Given the description of an element on the screen output the (x, y) to click on. 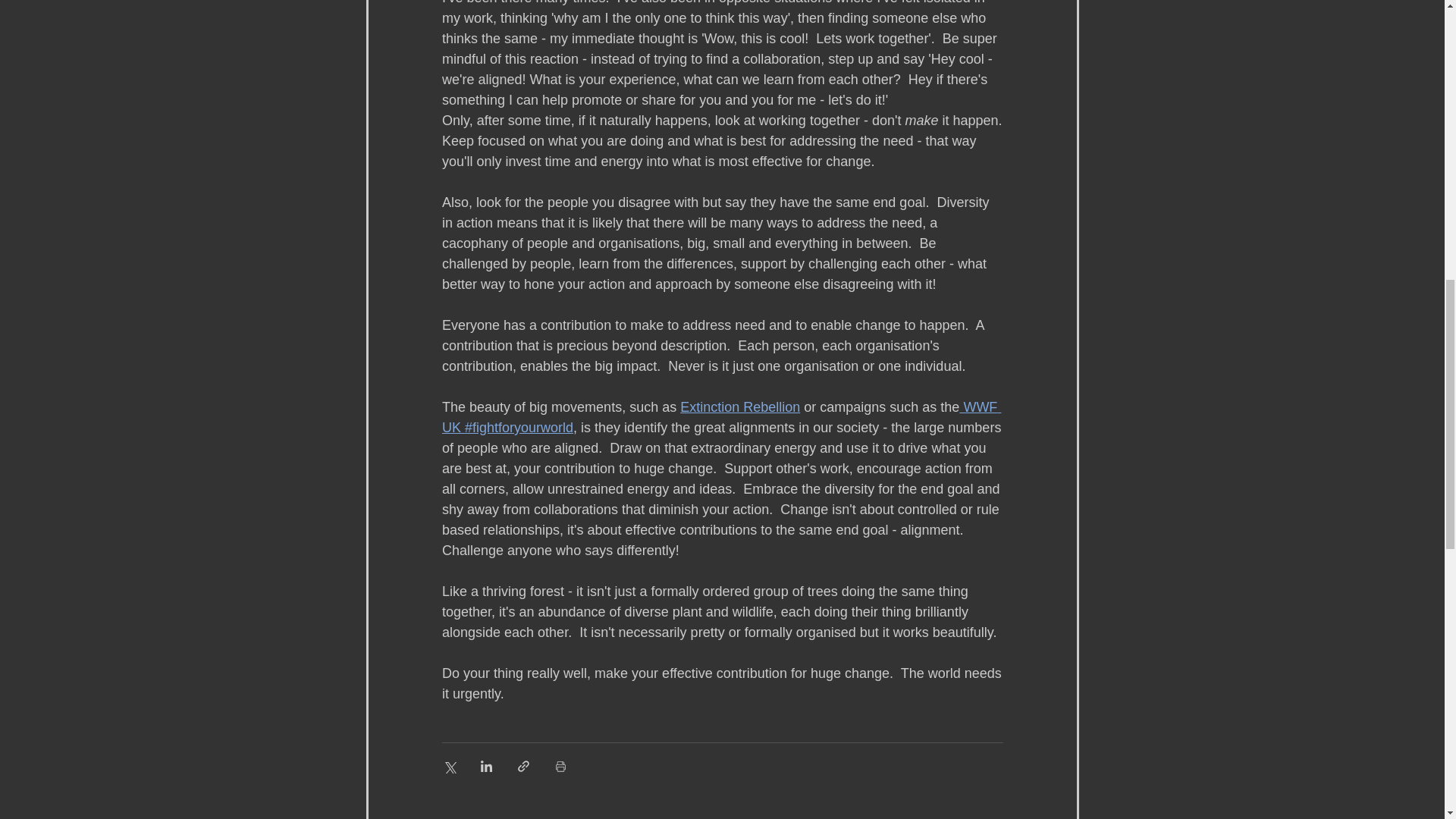
 WWF UK  (720, 416)
Extinction Rebellion (739, 406)
